Given the description of an element on the screen output the (x, y) to click on. 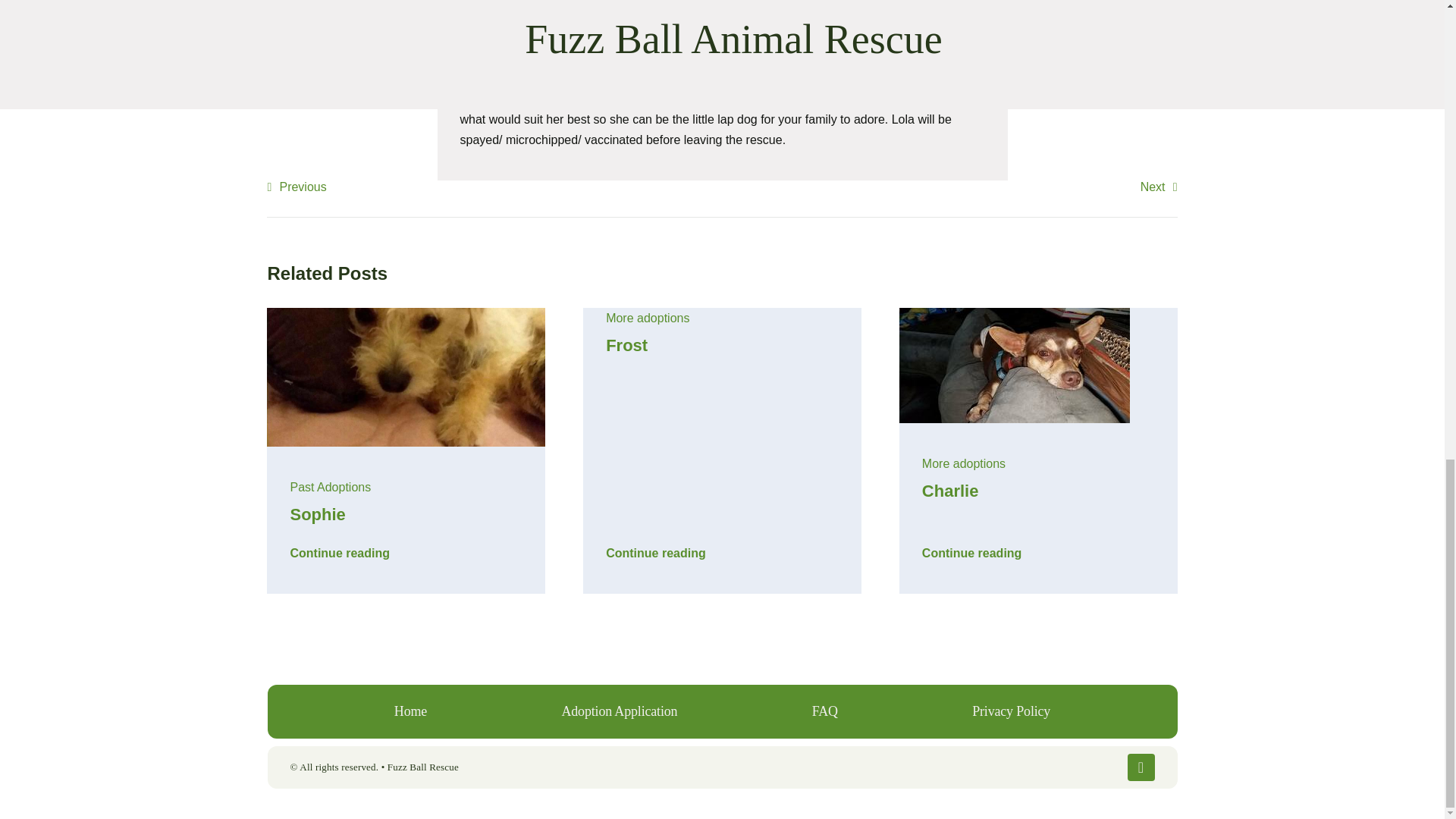
Home (410, 711)
Continue reading (971, 548)
Previous (296, 187)
More adoptions (646, 318)
More adoptions (646, 318)
More adoptions (963, 463)
Next (1158, 187)
Adoption Application (618, 711)
Frost (626, 344)
Past Adoptions (330, 486)
Charlie (949, 490)
Sophie (317, 514)
More adoptions (963, 463)
Past Adoptions (330, 486)
Continue reading (655, 548)
